Given the description of an element on the screen output the (x, y) to click on. 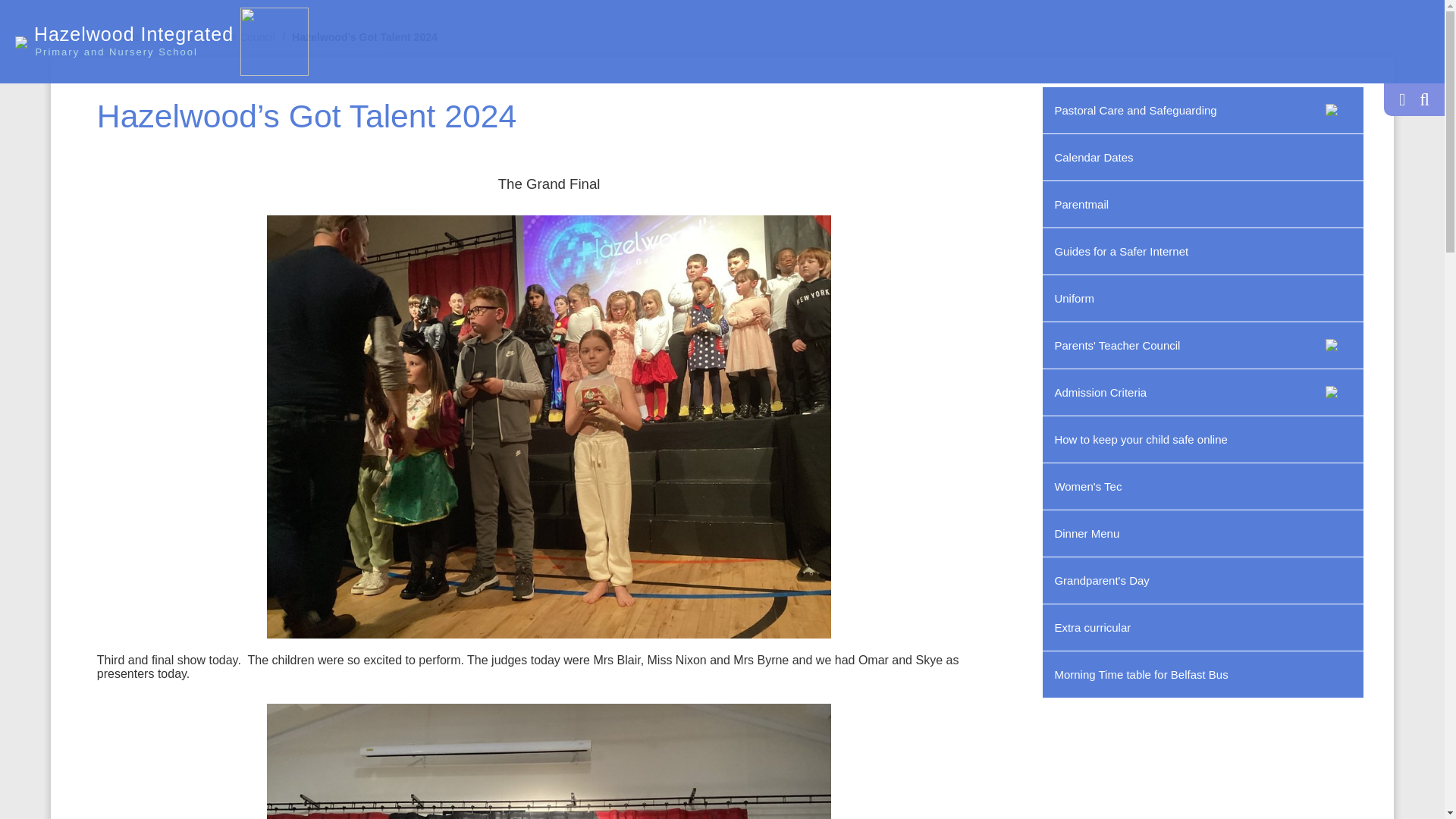
on (327, 354)
Cookie Control Link Icon (280, 522)
Cookie Control Icon (30, 788)
Cookie Control Link Icon (94, 140)
